Given the description of an element on the screen output the (x, y) to click on. 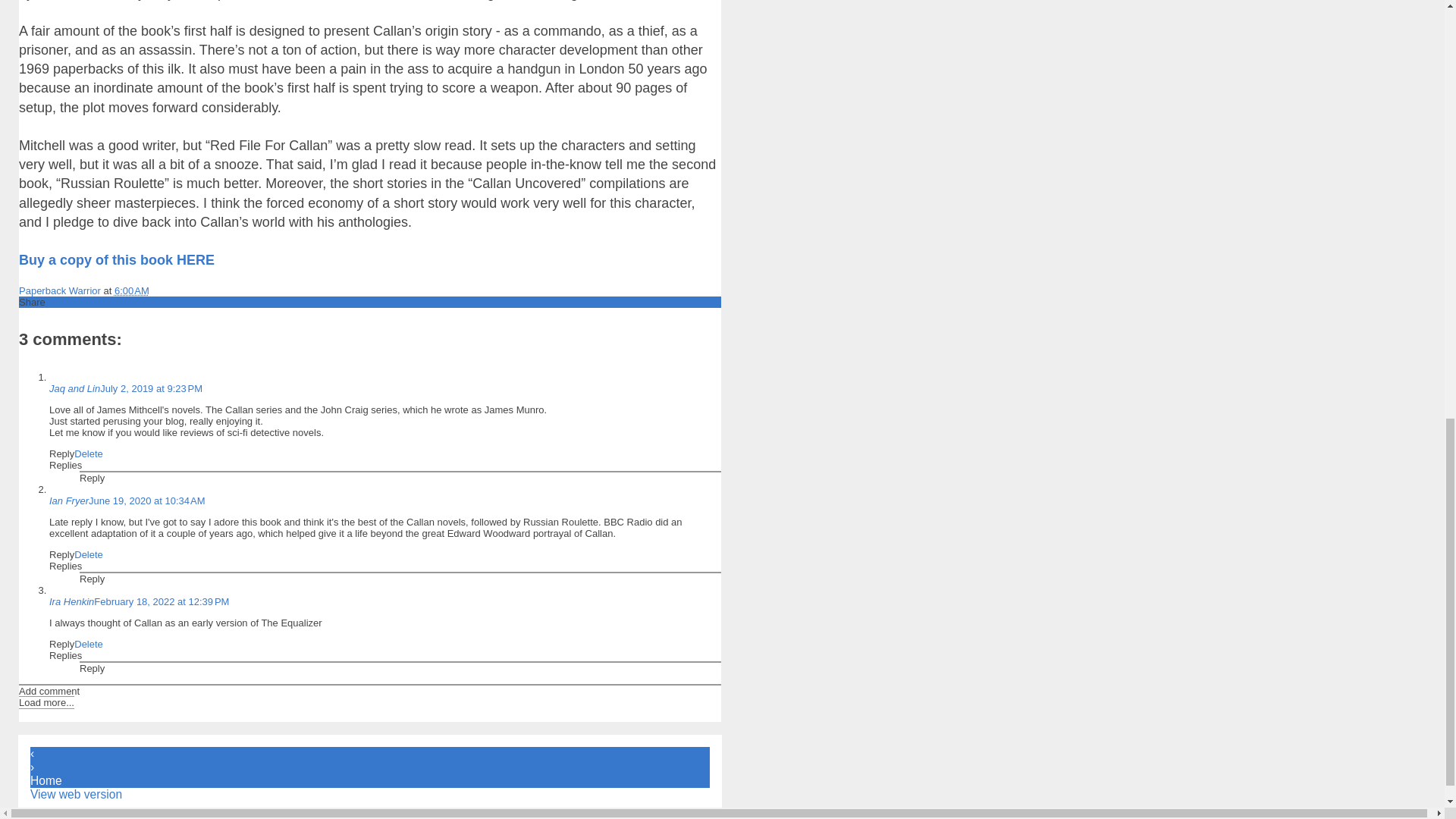
Share (31, 301)
Load more... (46, 702)
Reply (92, 668)
Replies (65, 655)
permanent link (132, 290)
Reply (61, 453)
Ira Henkin (71, 601)
Reply (61, 644)
Add comment (49, 690)
Jaq and Lin (74, 388)
Delete (88, 554)
Paperback Warrior (60, 290)
